Given the description of an element on the screen output the (x, y) to click on. 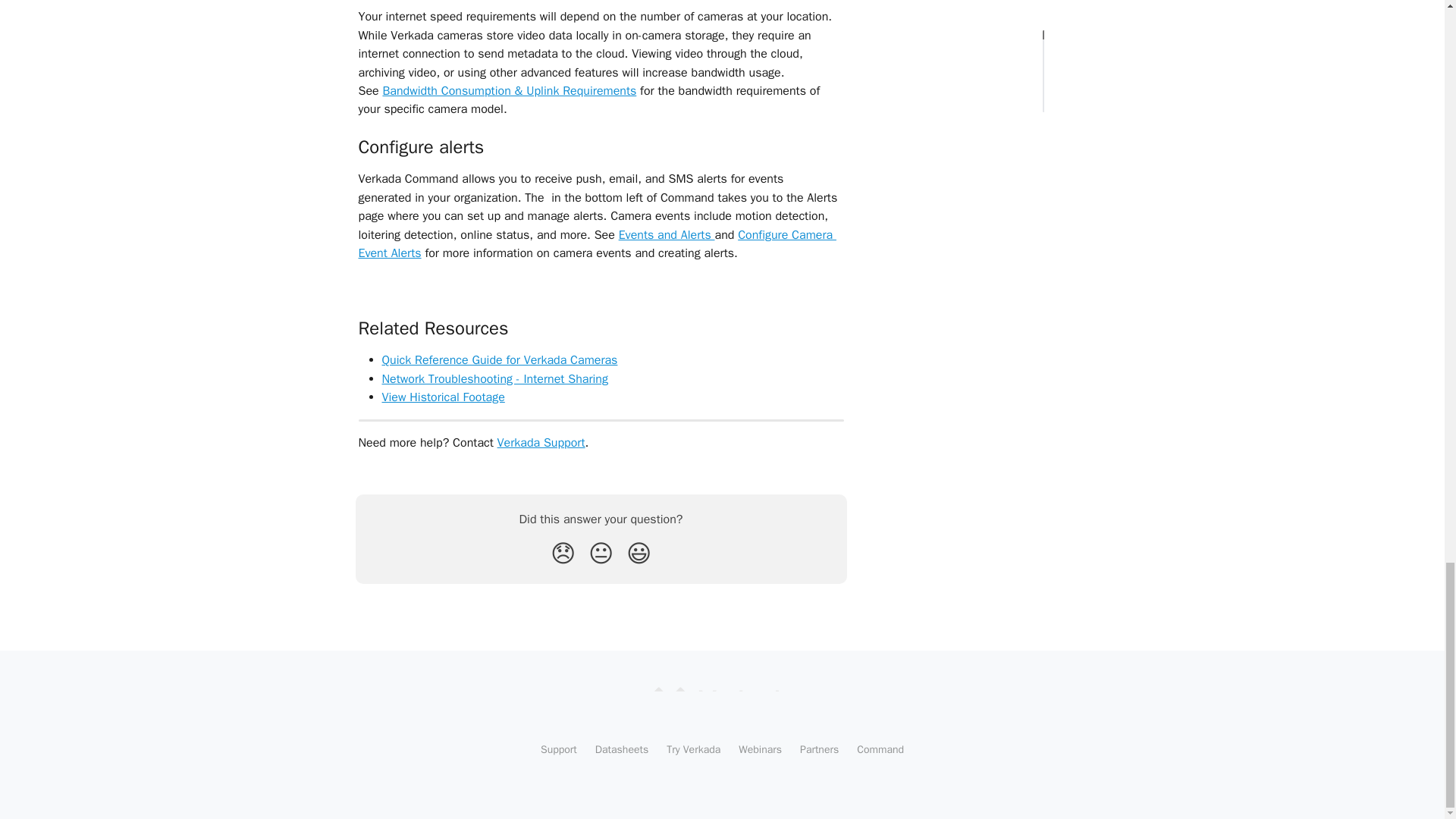
Configure Camera Event Alerts (596, 244)
Events and Alerts (666, 234)
Quick Reference Guide for Verkada Cameras (499, 359)
